Given the description of an element on the screen output the (x, y) to click on. 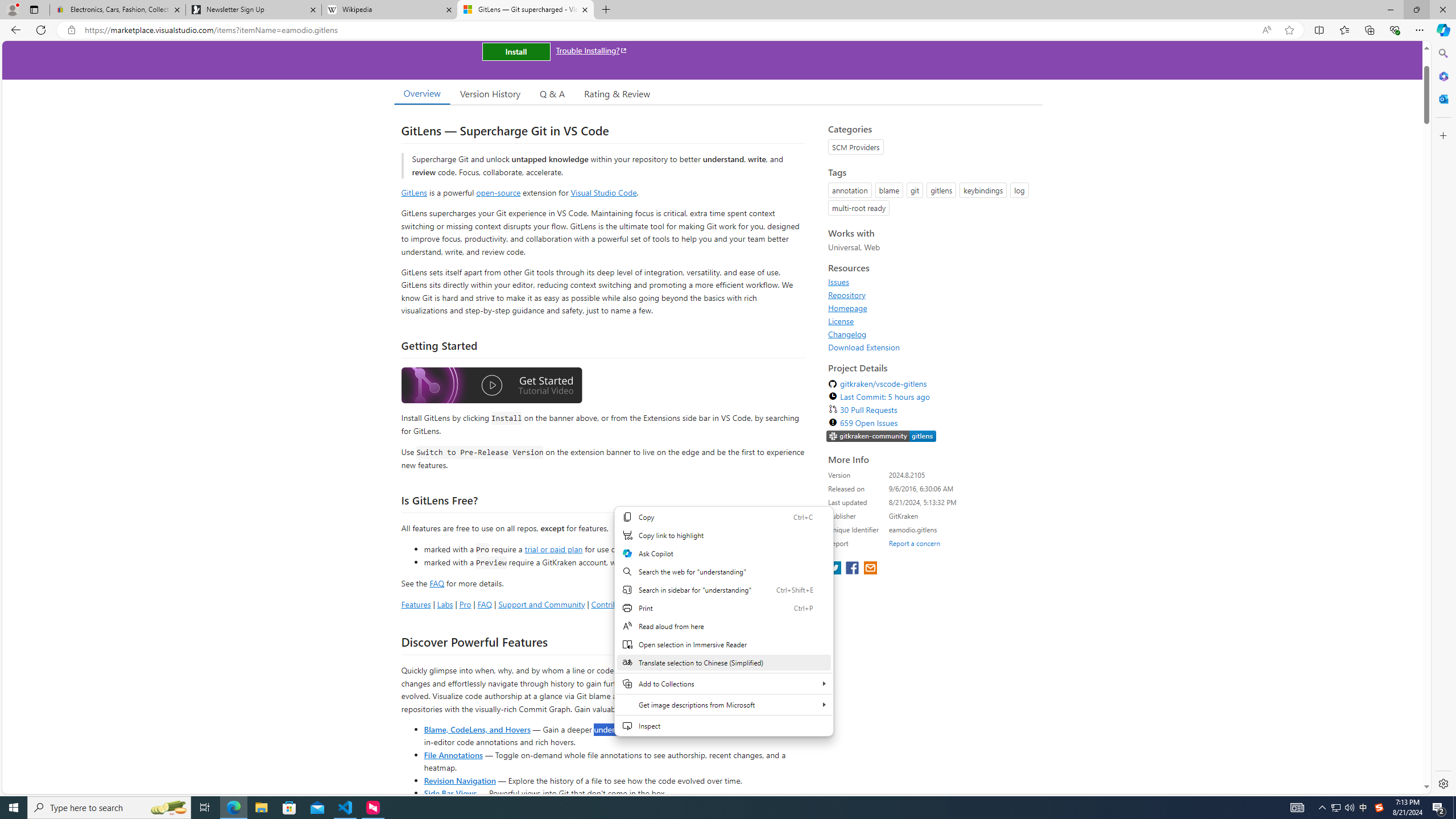
share extension on twitter (835, 568)
Labs (444, 603)
